Given the description of an element on the screen output the (x, y) to click on. 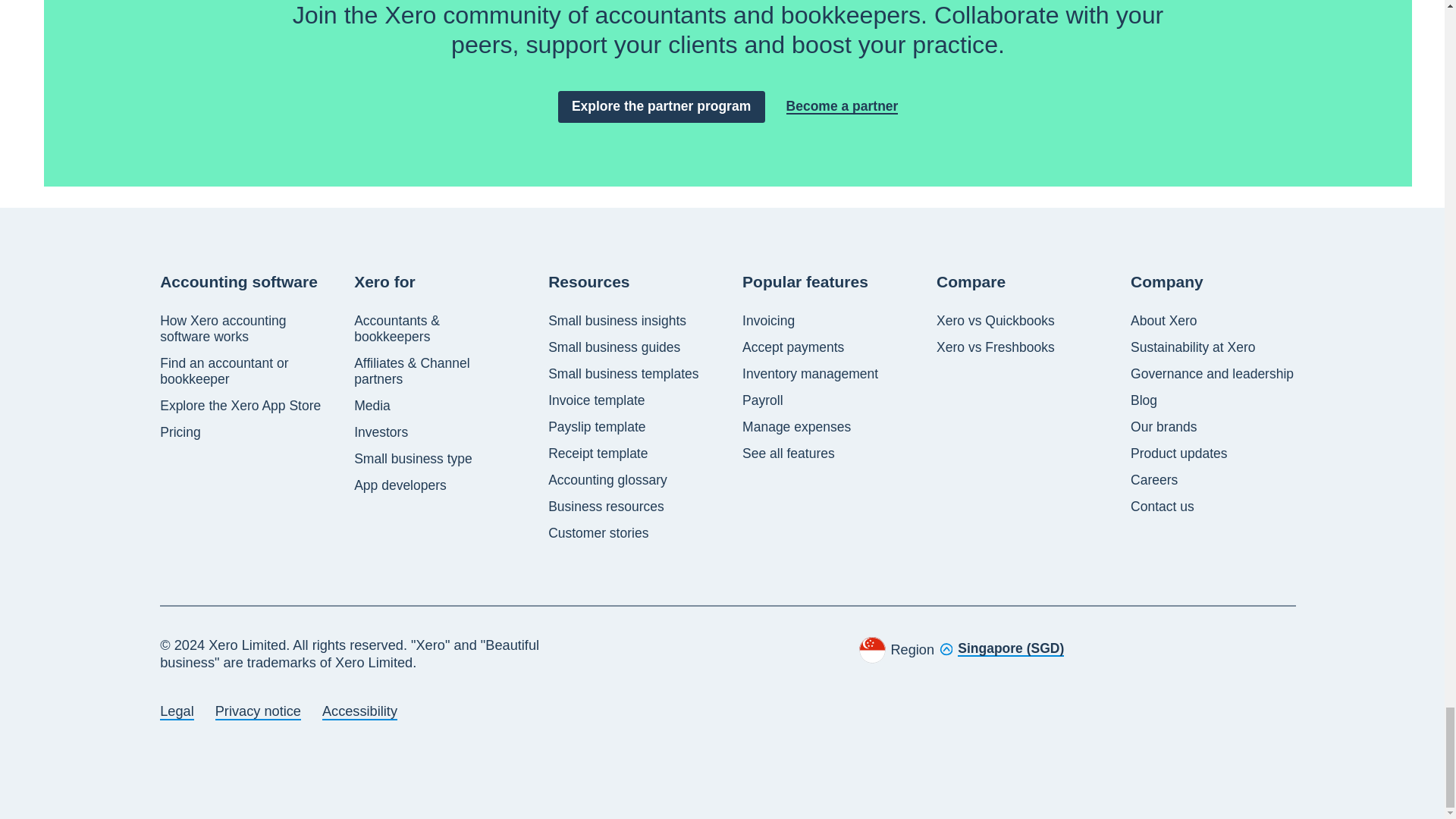
Pricing (180, 432)
App developers (399, 485)
Explore the Xero App Store (240, 406)
Become a partner (842, 106)
Small business guides (613, 347)
Media (371, 406)
Small business templates (623, 374)
Explore the partner program (661, 106)
Invoice template (596, 400)
Find an accountant or bookkeeper (242, 371)
Payslip template (596, 426)
How Xero accounting software works (242, 328)
Investors (380, 432)
Small business type (412, 458)
Small business insights (616, 320)
